Given the description of an element on the screen output the (x, y) to click on. 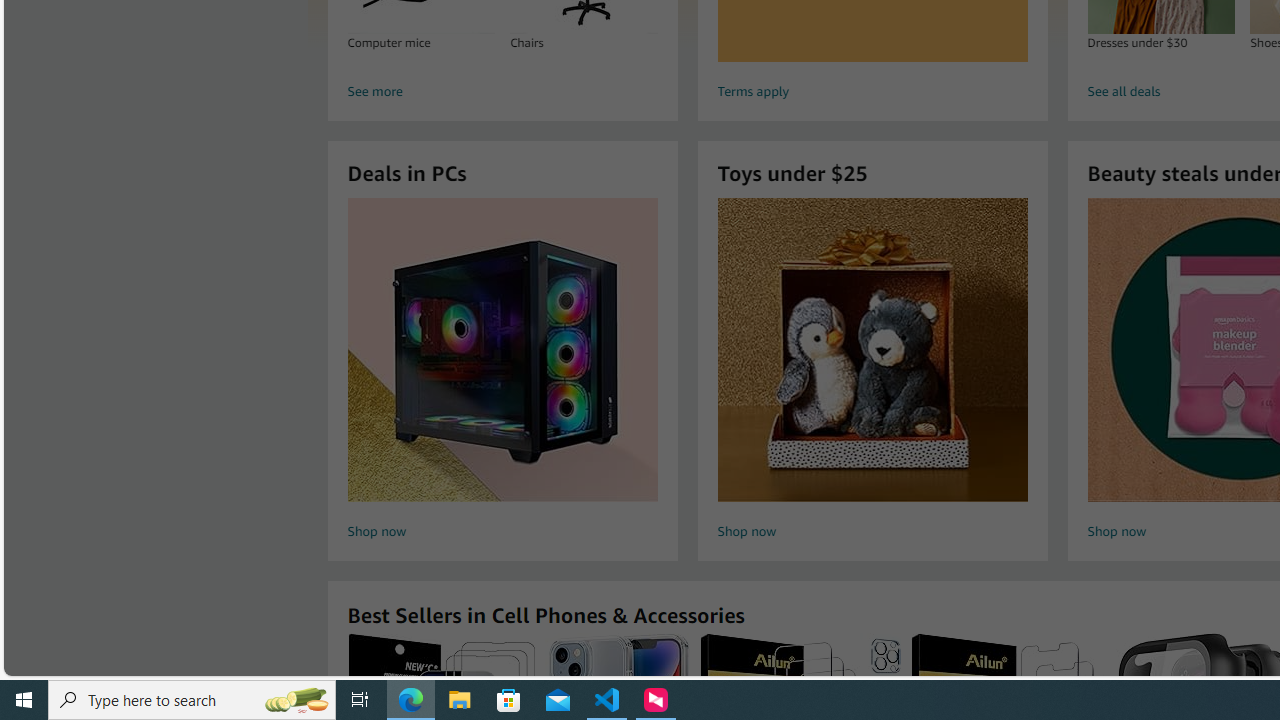
Deals in PCs Shop now (502, 371)
Toys under $25 (872, 349)
Toys under $25 Shop now (872, 371)
Deals in PCs (502, 349)
